Given the description of an element on the screen output the (x, y) to click on. 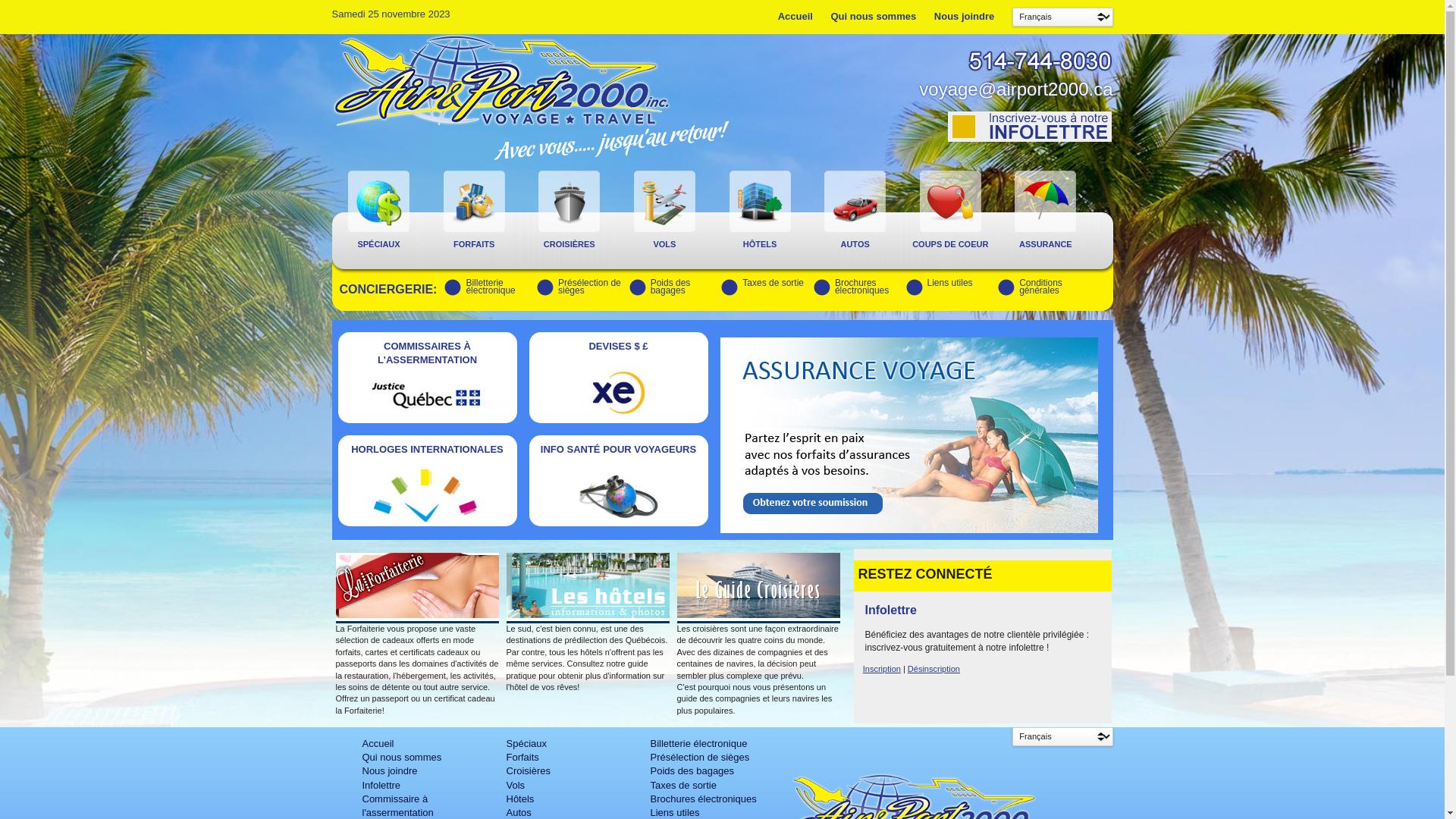
Nous joindre Element type: text (964, 15)
Accueil Element type: text (795, 15)
Accueil Element type: text (378, 743)
Inscription Element type: text (881, 668)
Liens utiles Element type: text (674, 812)
Qui nous sommes Element type: text (873, 15)
Forfaits Element type: text (522, 756)
Taxes de sortie Element type: text (683, 784)
Qui nous sommes Element type: text (402, 756)
voyage@airport2000.ca Element type: text (1015, 88)
FORFAITS Element type: text (478, 243)
Vols Element type: text (515, 784)
Infolettre Element type: text (381, 784)
AUTOS Element type: text (859, 243)
Autos Element type: text (518, 812)
Taxes de sortie Element type: text (772, 282)
Poids des bagages Element type: text (692, 770)
COUPS DE COEUR Element type: text (954, 243)
Poids des bagages Element type: text (670, 286)
Liens utiles Element type: text (949, 282)
Nous joindre Element type: text (389, 770)
VOLS Element type: text (668, 243)
ASSURANCE Element type: text (1050, 243)
